Given the description of an element on the screen output the (x, y) to click on. 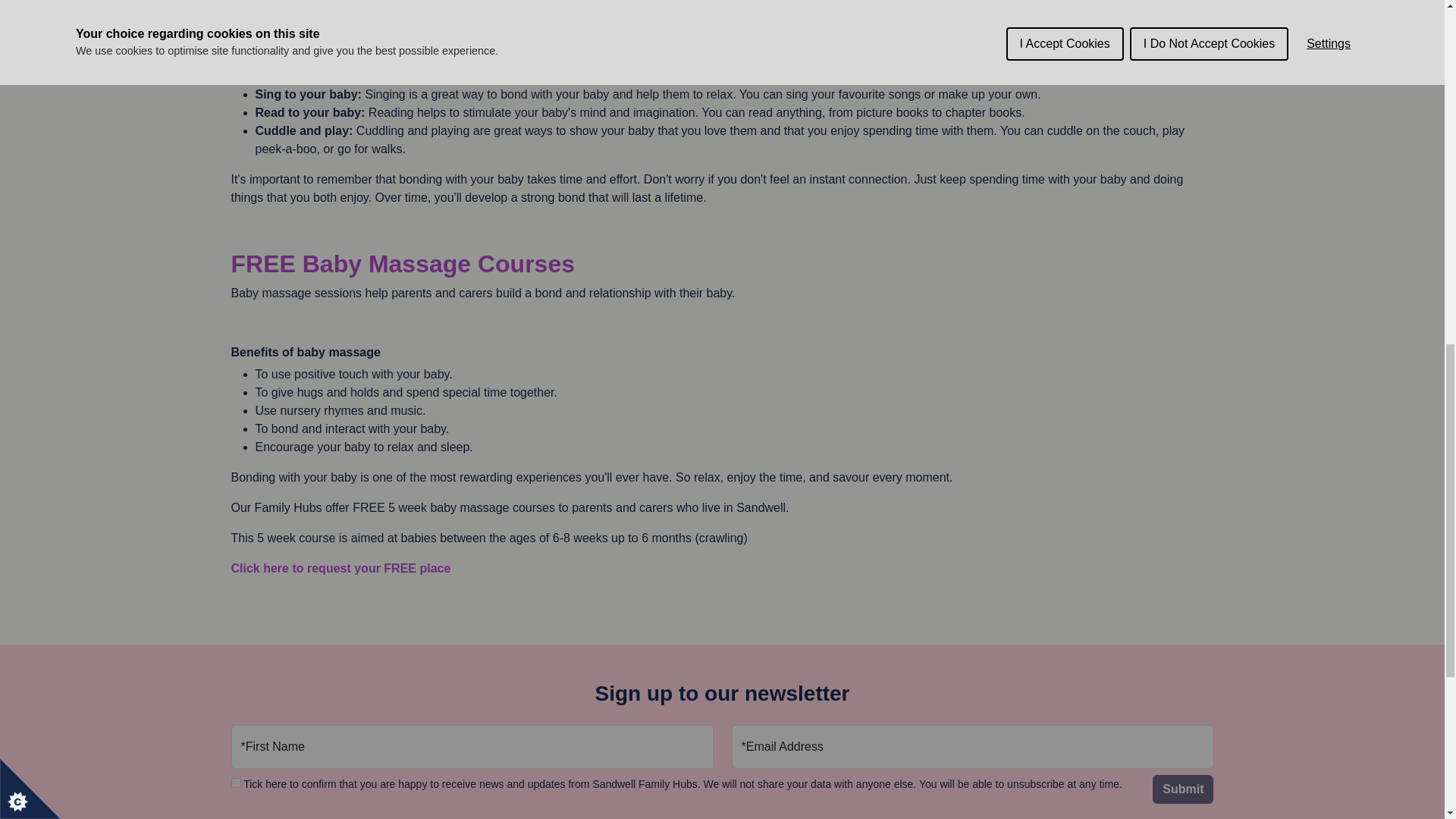
Submit (1182, 788)
Click here to request your FREE place  (341, 567)
true (235, 782)
